Given the description of an element on the screen output the (x, y) to click on. 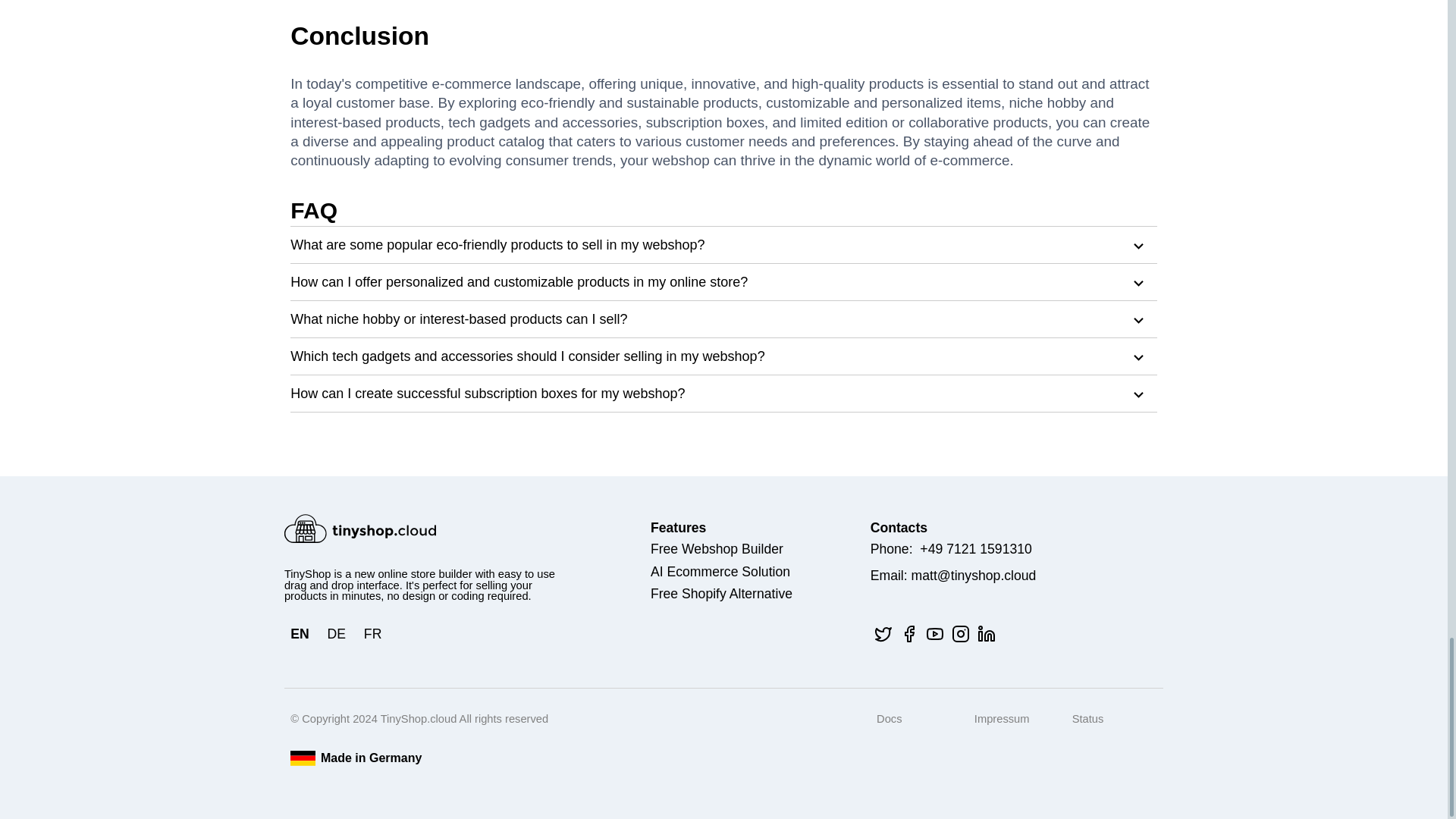
Free Shopify Alternative (721, 594)
EN (298, 633)
Made in Germany (373, 758)
FR (372, 633)
DE (336, 633)
Free Webshop Builder (716, 549)
Impressum (1001, 718)
AI Ecommerce Solution (720, 572)
Docs (888, 718)
Status (1087, 718)
